Given the description of an element on the screen output the (x, y) to click on. 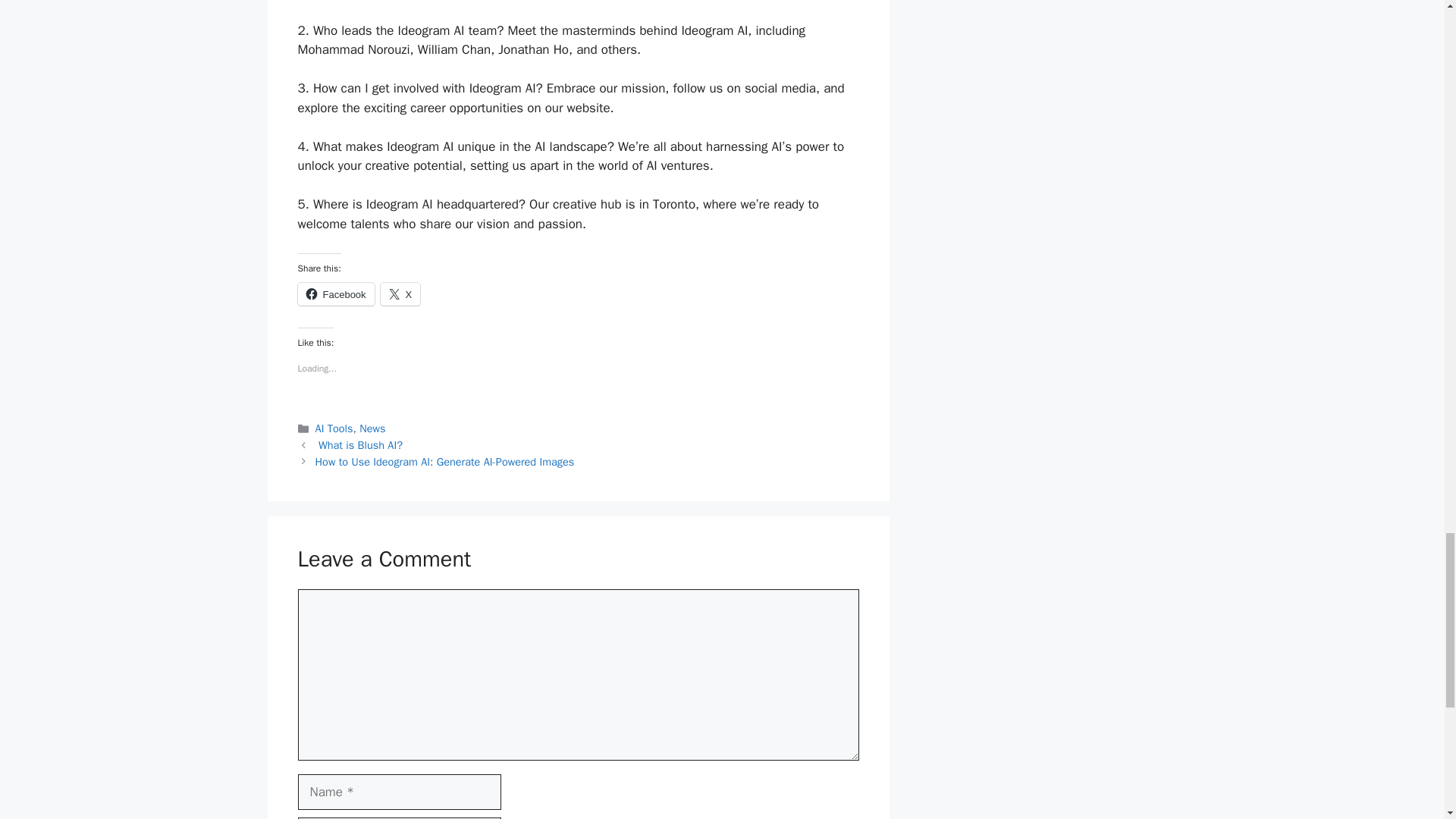
X (400, 293)
Click to share on Facebook (335, 293)
 What is Blush AI? (359, 445)
Click to share on X (400, 293)
Facebook (335, 293)
News (372, 427)
How to Use Ideogram AI: Generate AI-Powered Images (445, 461)
AI Tools (334, 427)
